Given the description of an element on the screen output the (x, y) to click on. 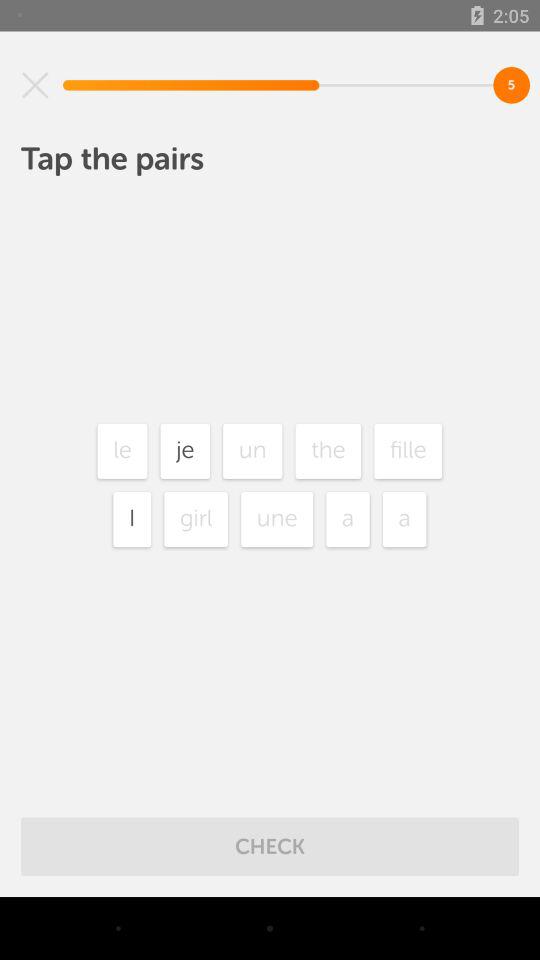
press the i item (132, 519)
